Given the description of an element on the screen output the (x, y) to click on. 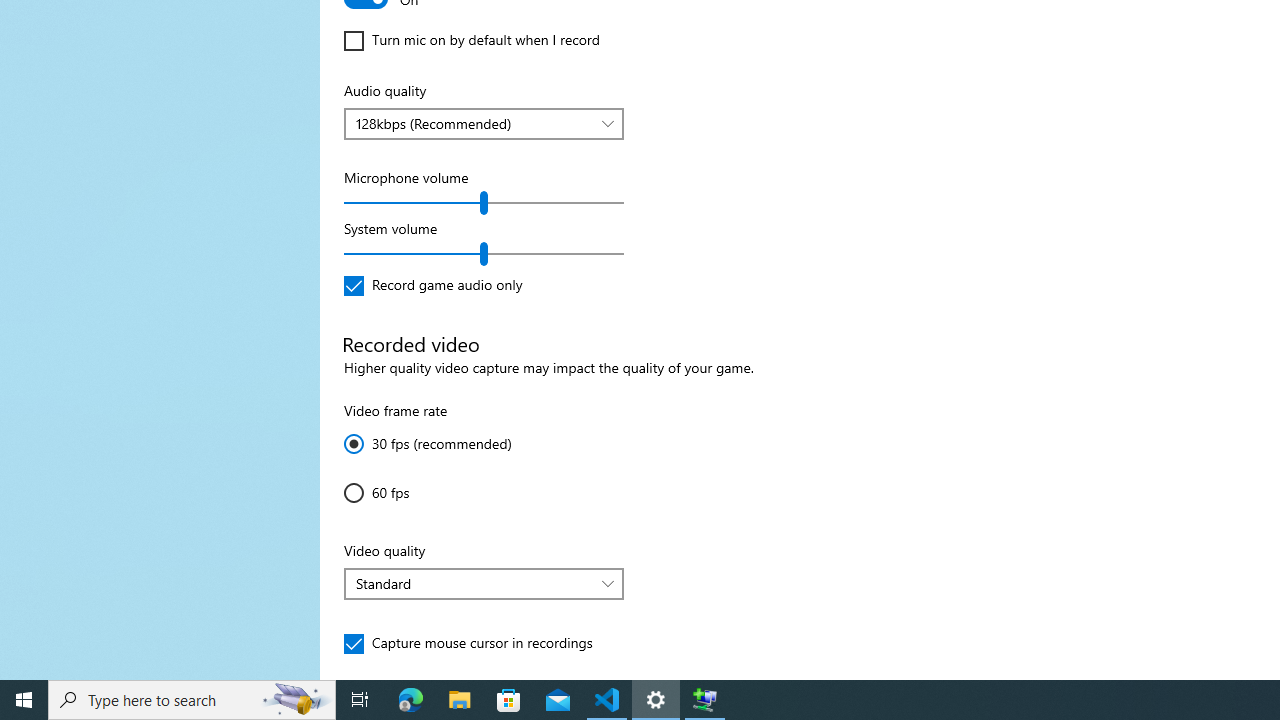
Microphone volume (484, 202)
Capture mouse cursor in recordings (468, 643)
30 fps (recommended) (428, 443)
Extensible Wizards Host Process - 1 running window (704, 699)
Standard (473, 583)
128kbps (Recommended) (473, 123)
